Given the description of an element on the screen output the (x, y) to click on. 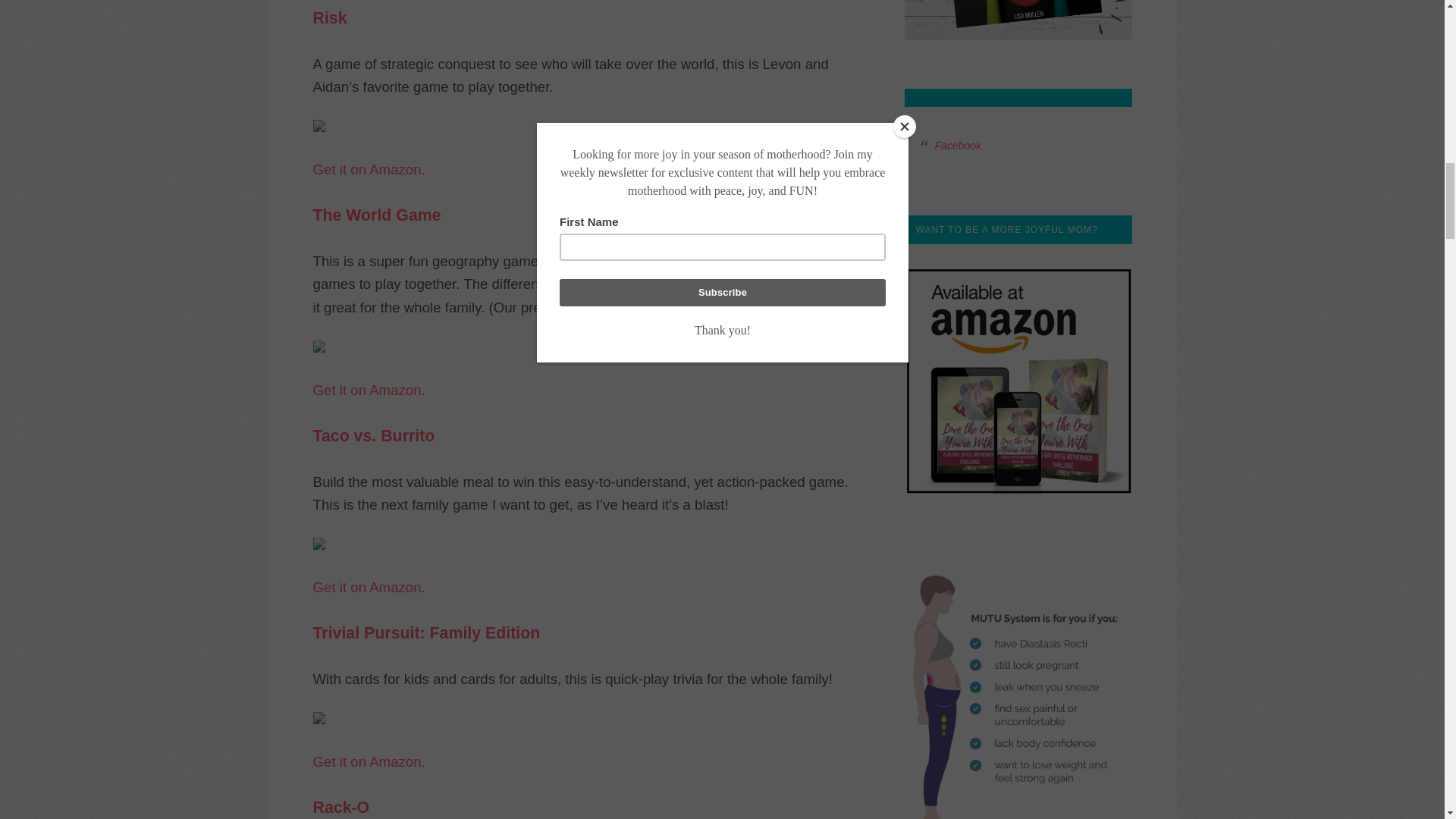
Get it on Amazon. (369, 169)
Get it on Amazon. (369, 390)
Taco vs. Burrito (373, 437)
Trivial Pursuit: Family Edition (426, 634)
Get it on Amazon. (369, 587)
The World Game (377, 216)
Get it on Amazon. (369, 761)
Risk (329, 19)
